Given the description of an element on the screen output the (x, y) to click on. 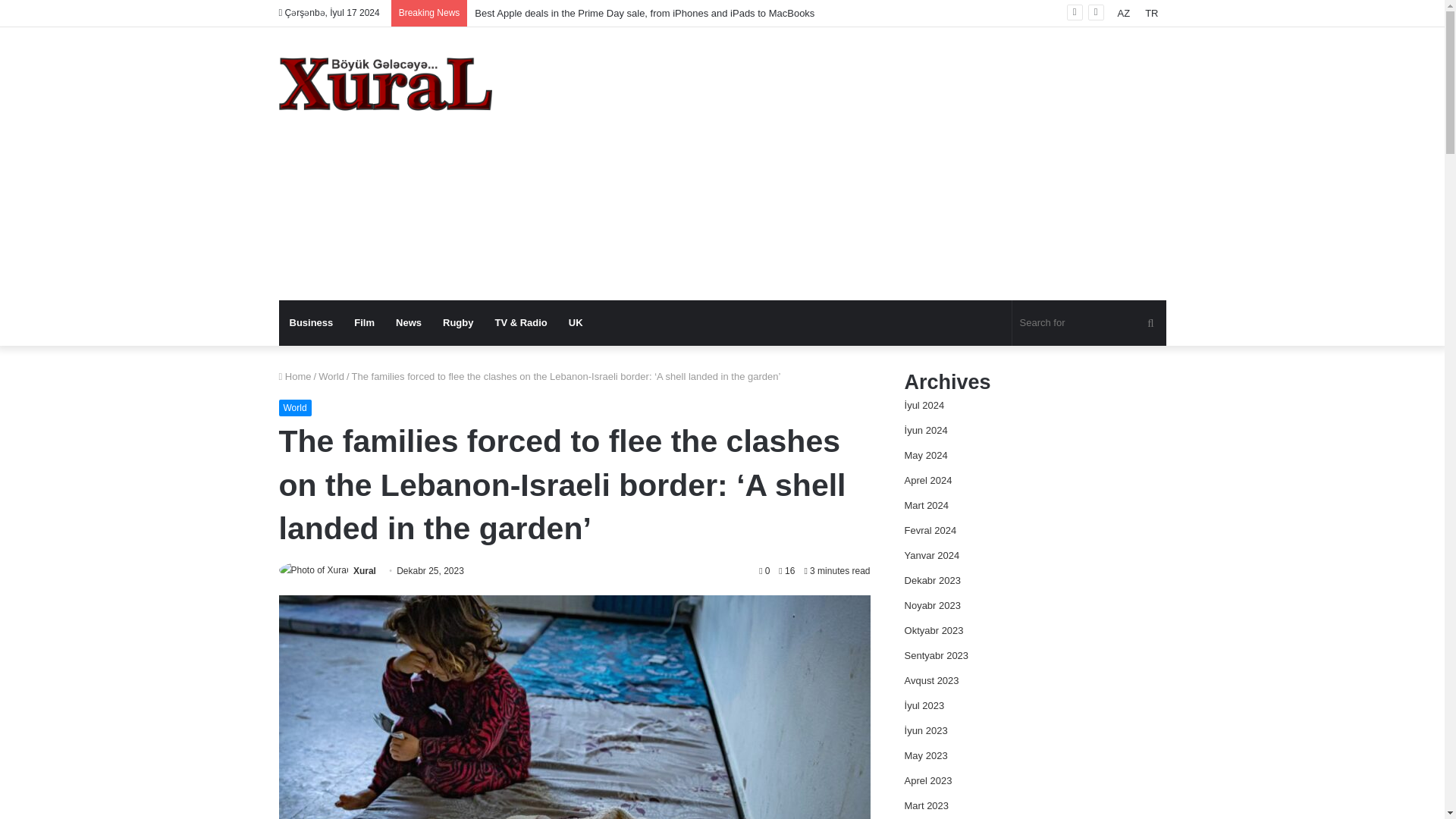
Film (364, 322)
AZ (1123, 13)
Business (311, 322)
News (408, 322)
World (295, 407)
UK (575, 322)
Xural (364, 570)
Xural (385, 83)
Xural (364, 570)
TR (1151, 13)
YouTube video player (1044, 220)
Search for (1150, 322)
Search for (1088, 322)
Rugby (457, 322)
